Given the description of an element on the screen output the (x, y) to click on. 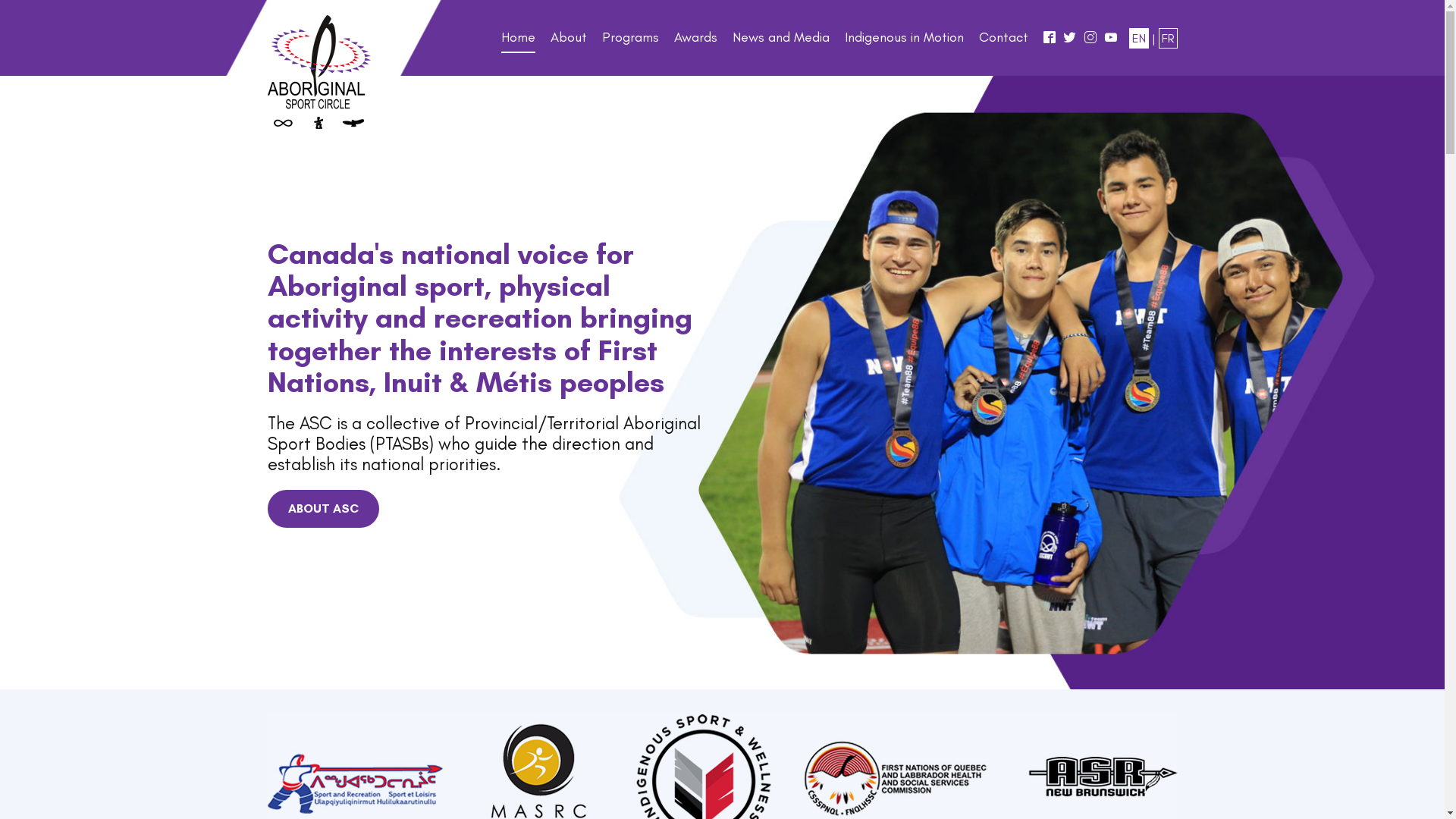
Indigenous in Motion Element type: text (903, 41)
About Element type: text (568, 41)
FR Element type: text (1167, 38)
Aboriginal Sport Circle Element type: text (318, 71)
Programs Element type: text (630, 41)
News and Media Element type: text (780, 41)
EN Element type: text (1138, 38)
ABOUT ASC Element type: text (322, 508)
Home Element type: text (517, 41)
Awards Element type: text (694, 41)
Contact Element type: text (1002, 41)
